Given the description of an element on the screen output the (x, y) to click on. 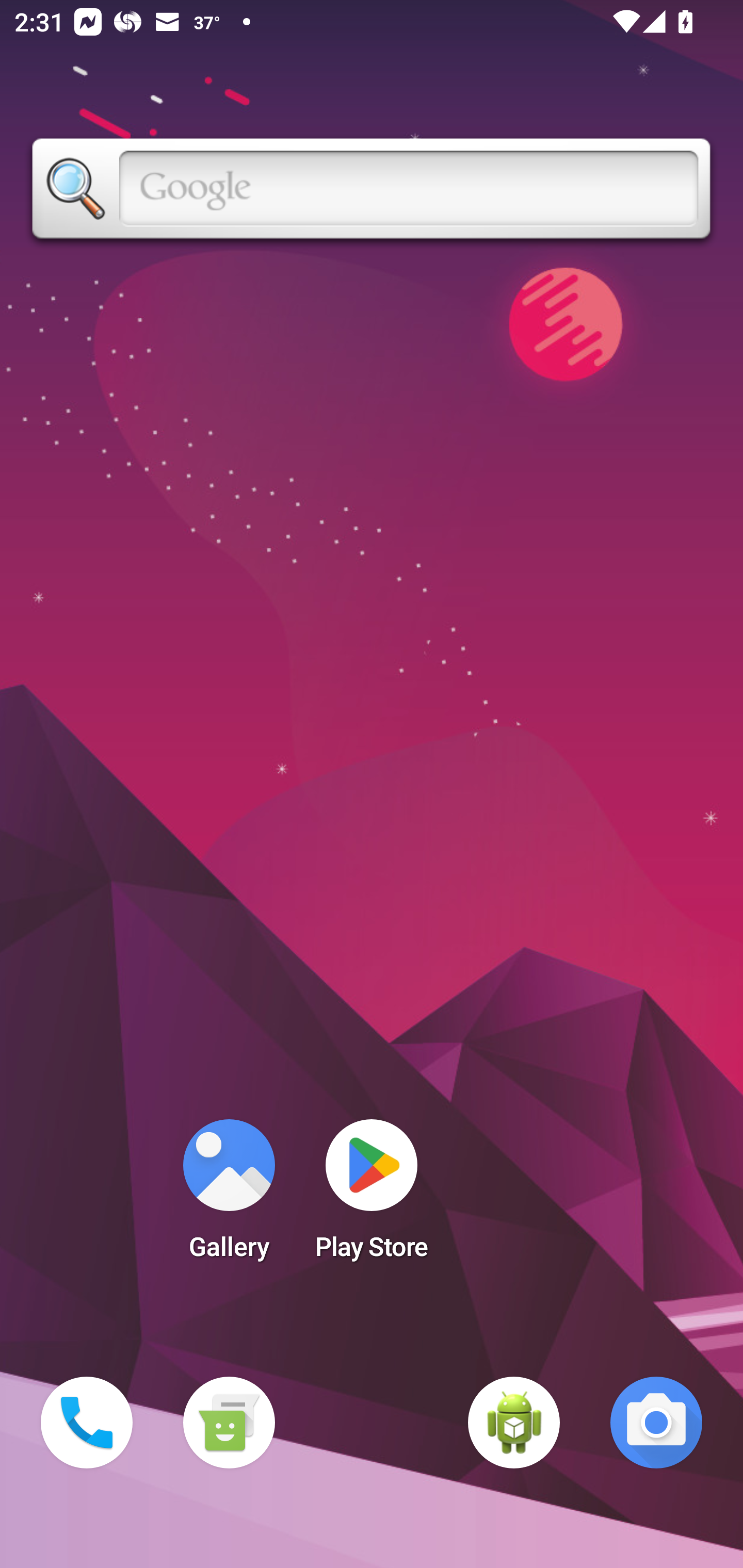
Gallery (228, 1195)
Play Store (371, 1195)
Phone (86, 1422)
Messaging (228, 1422)
WebView Browser Tester (513, 1422)
Camera (656, 1422)
